Given the description of an element on the screen output the (x, y) to click on. 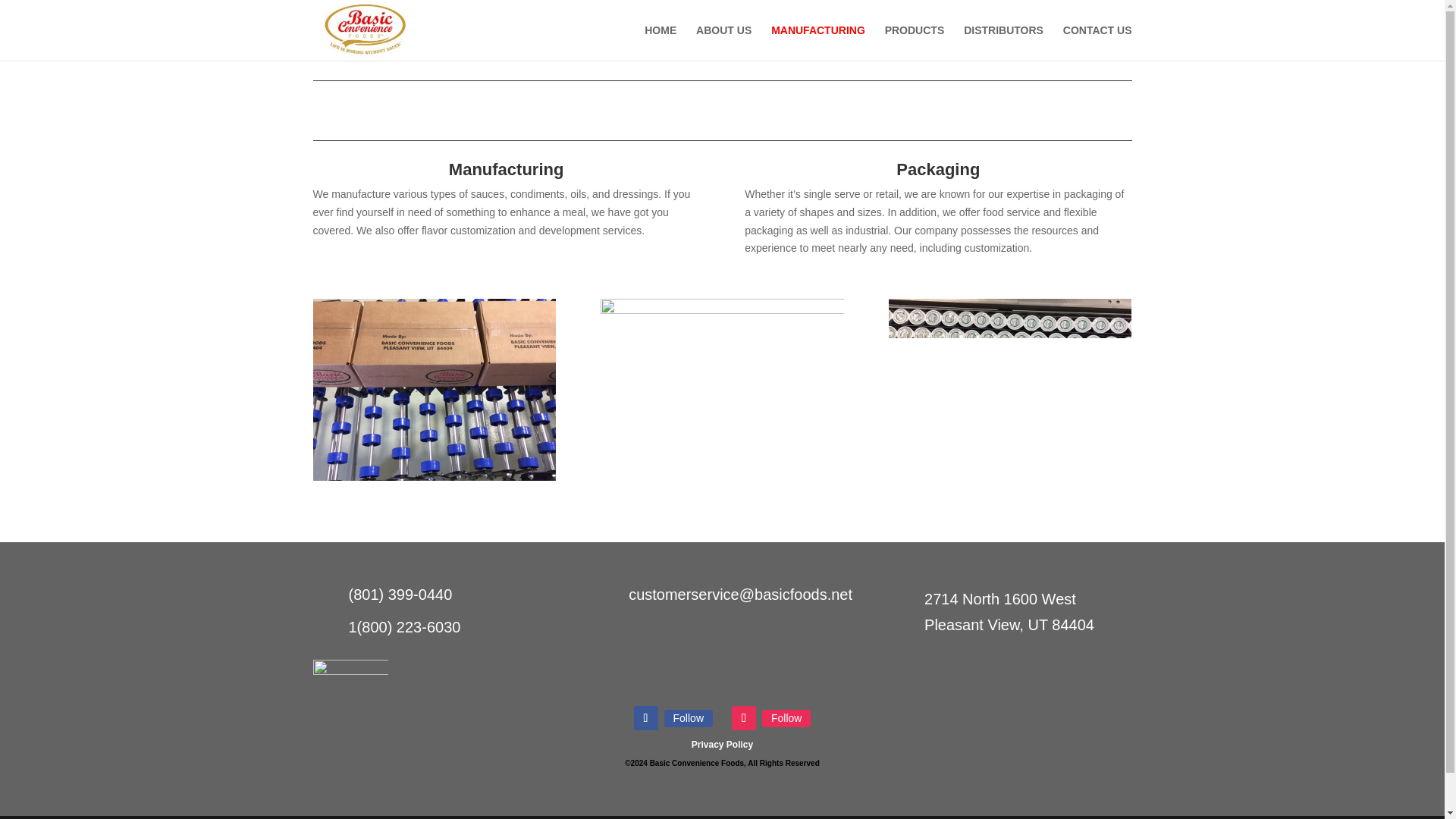
Follow (688, 718)
Facebook (688, 718)
Follow on Instagram (743, 717)
sqf certified (350, 682)
Instagram (785, 718)
2714 North 1600 West Pleasant View, UT 84404 (1009, 611)
CONTACT US (1097, 42)
Follow (785, 718)
MANUFACTURING (817, 42)
HOME (661, 42)
